Given the description of an element on the screen output the (x, y) to click on. 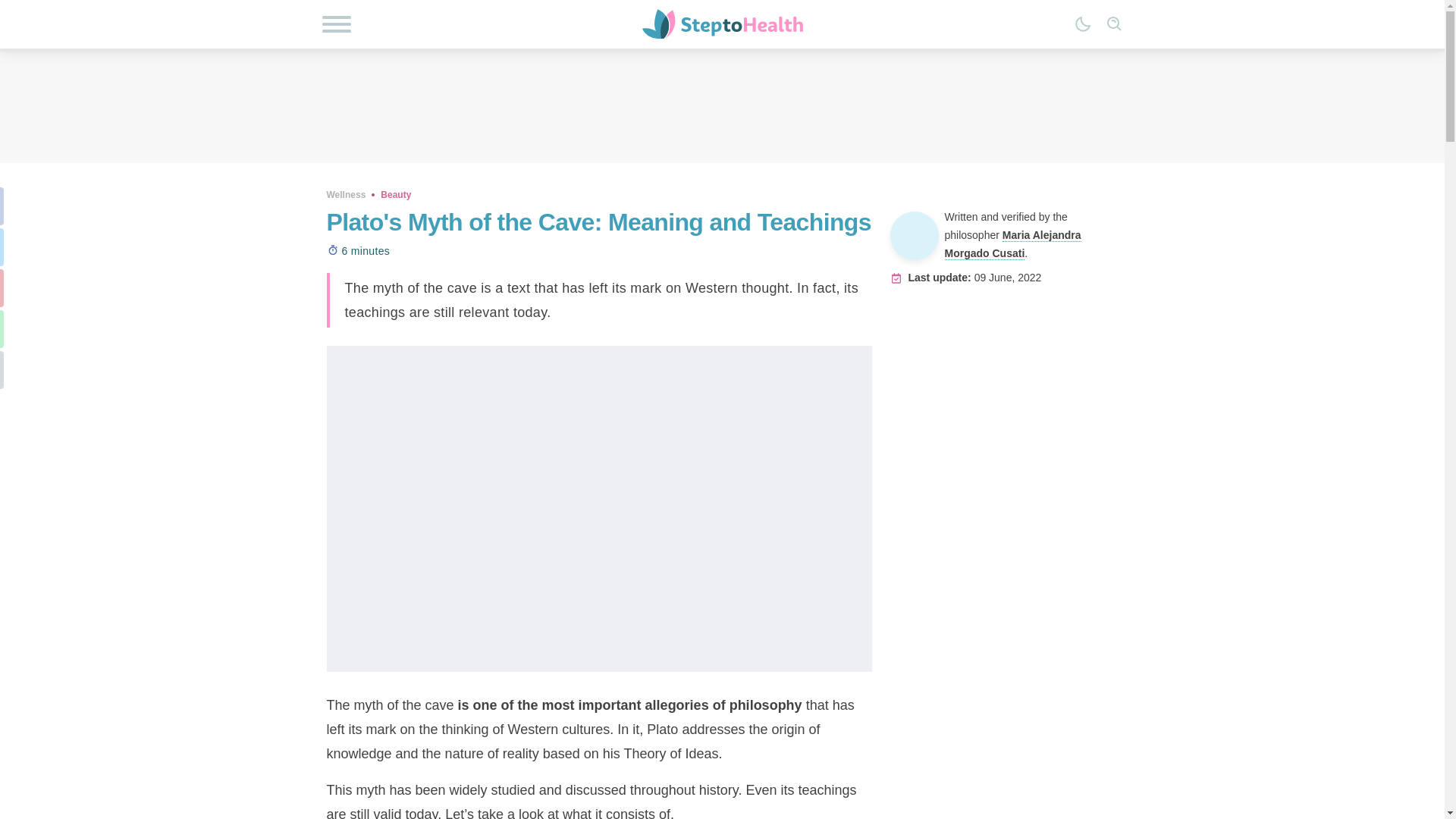
Wellness (345, 193)
Wellness (345, 193)
Maria Alejandra Morgado Cusati (1012, 244)
Beauty (395, 193)
Beauty (395, 193)
